Given the description of an element on the screen output the (x, y) to click on. 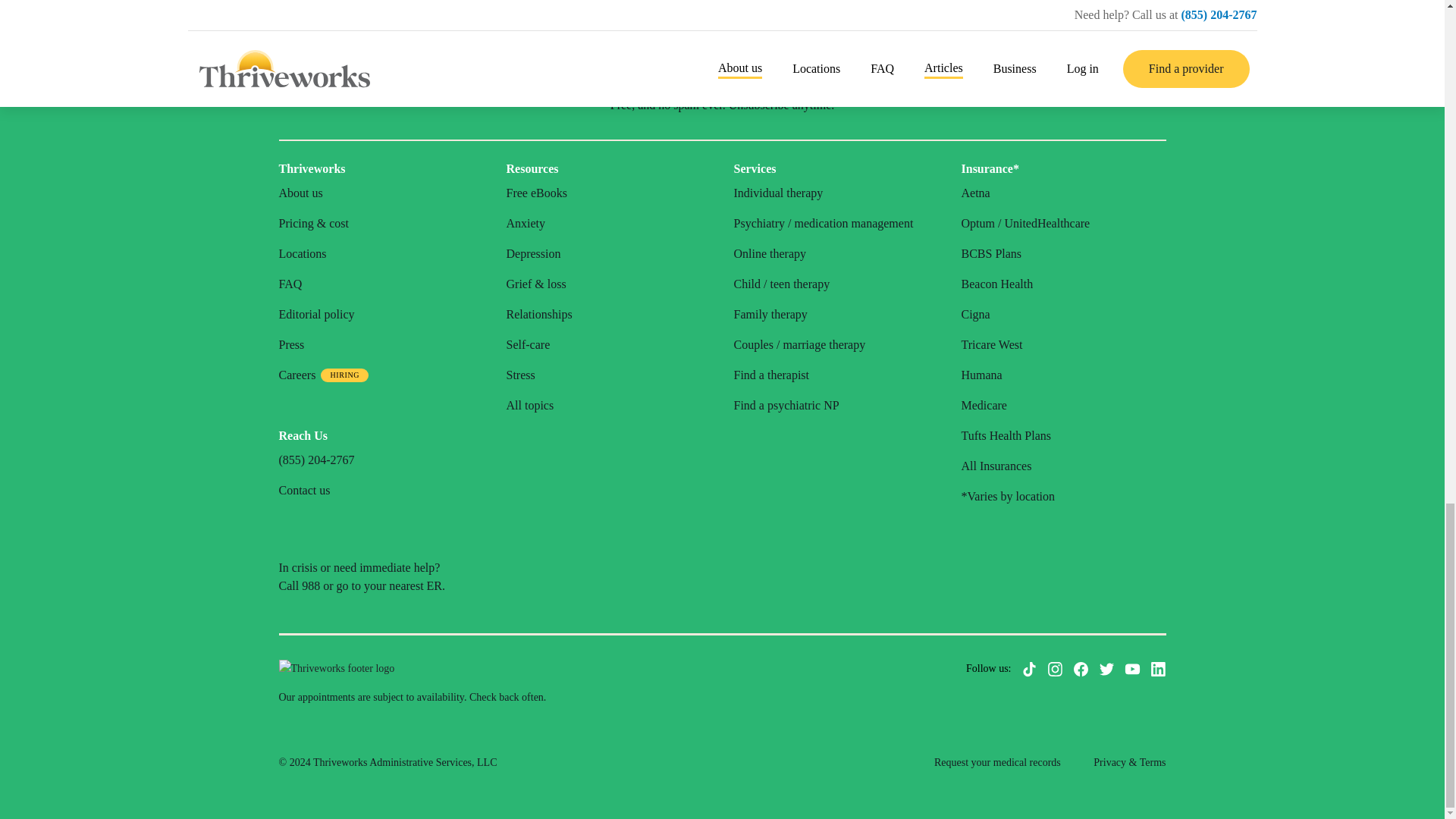
Sign me up (832, 60)
